Given the description of an element on the screen output the (x, y) to click on. 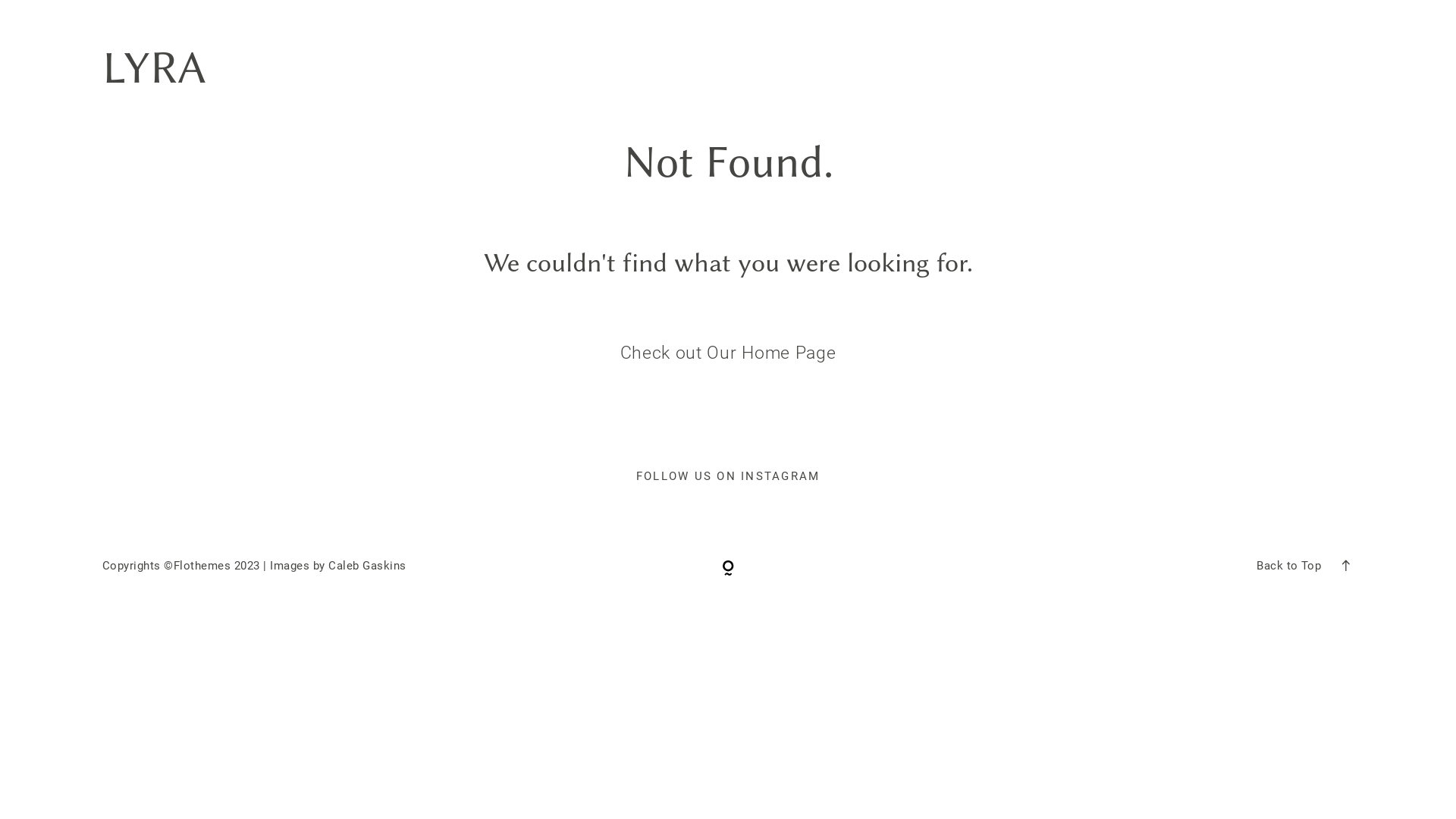
LYRA Element type: text (154, 68)
Check out Our Home Page Element type: text (728, 352)
Caleb Gaskins Element type: text (366, 565)
Sorry, your browser does not support inline SVG. Element type: text (727, 565)
